Given the description of an element on the screen output the (x, y) to click on. 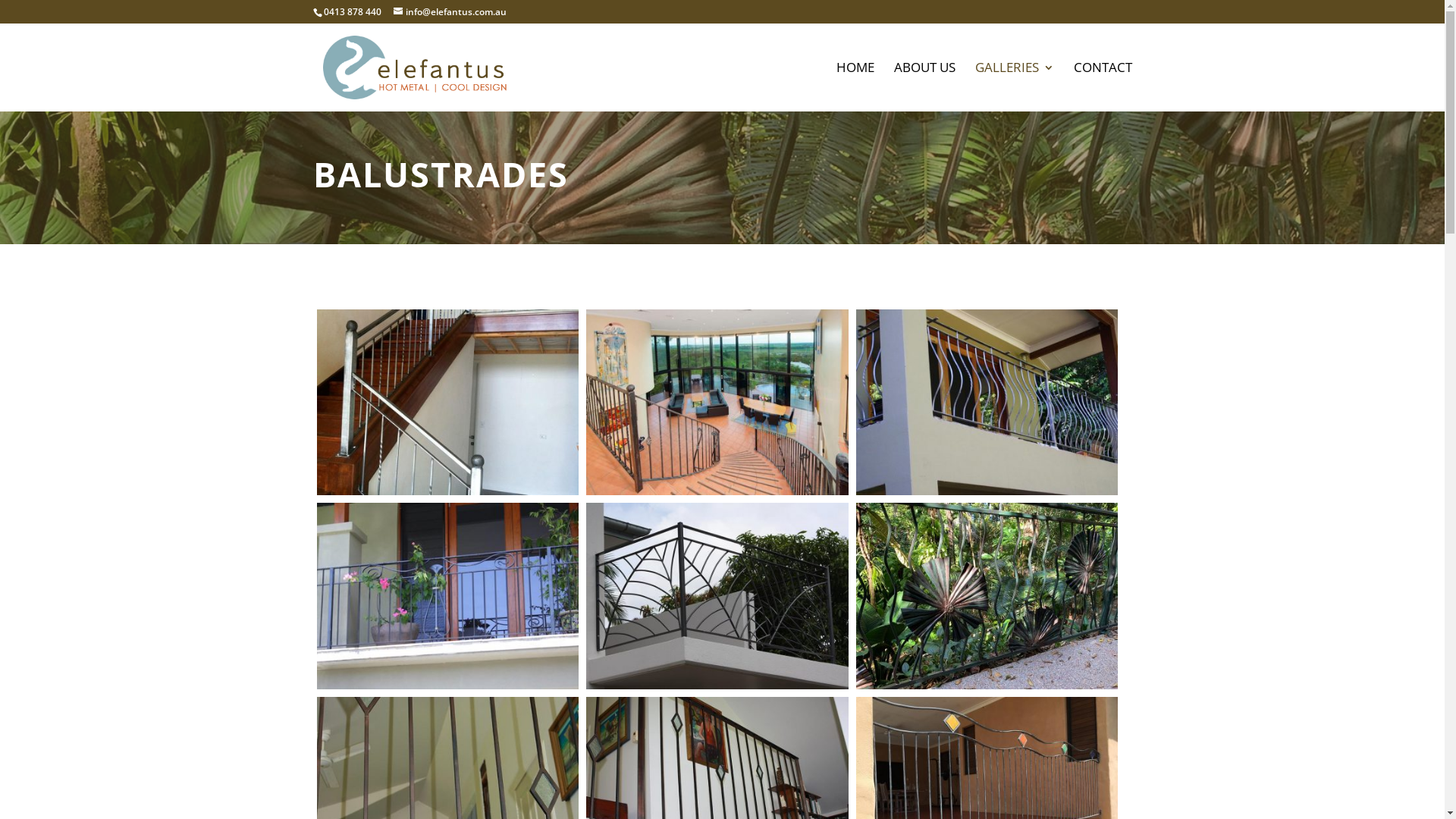
HOME Element type: text (854, 86)
IMG_0358 Element type: hover (717, 684)
GALLERIES Element type: text (1014, 86)
figtree-balustrade Element type: hover (987, 489)
info@elefantus.com.au Element type: text (448, 11)
balustrade-classic-twist Element type: hover (447, 489)
IMG_0665 Element type: hover (987, 684)
CONTACT Element type: text (1102, 86)
g21 Element type: hover (447, 684)
ABOUT US Element type: text (923, 86)
chapman-residence Element type: hover (717, 489)
